Given the description of an element on the screen output the (x, y) to click on. 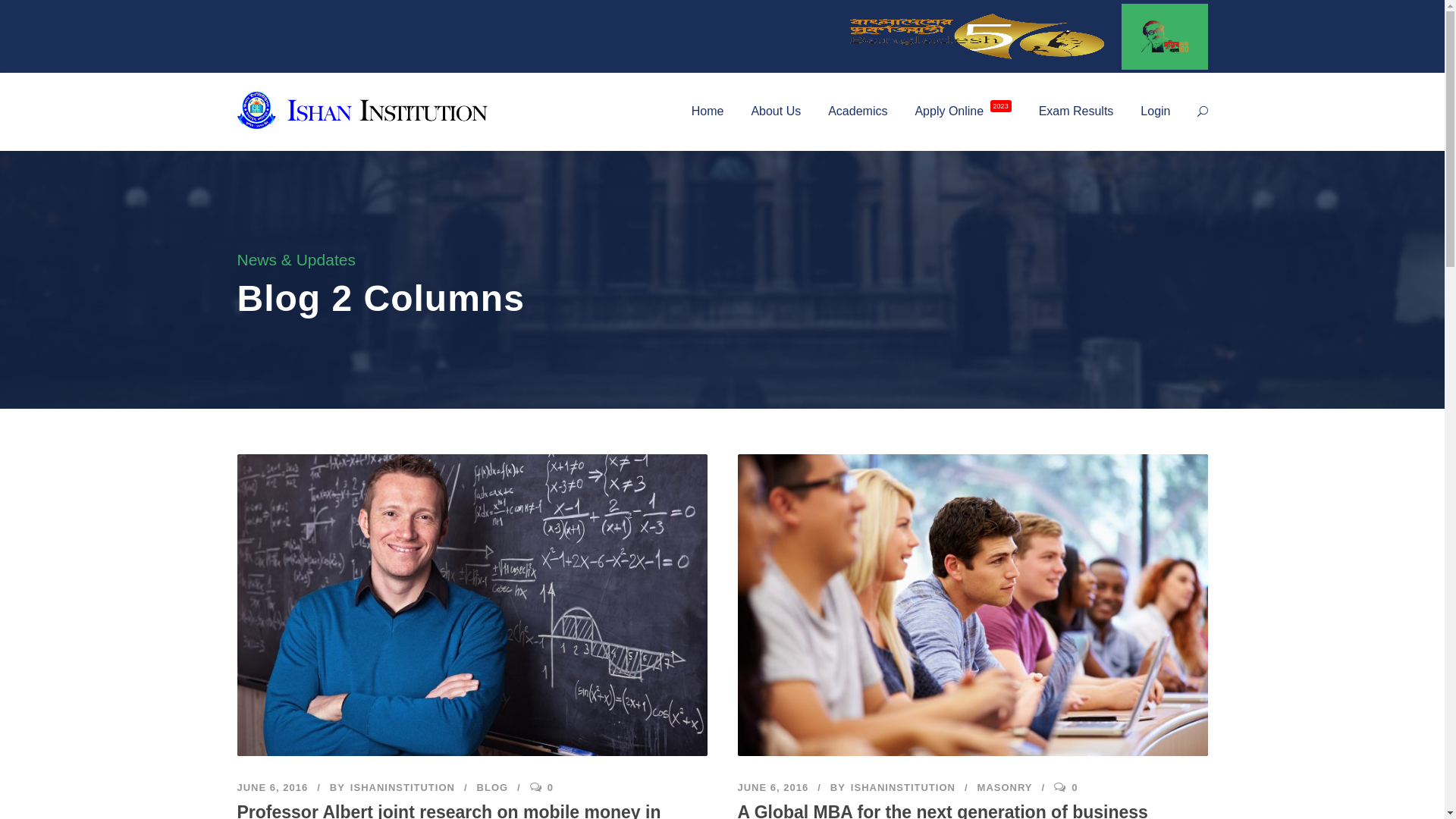
BLOG Element type: text (492, 787)
Login Element type: text (1155, 123)
Apply Online 2023 Element type: text (962, 123)
About Us Element type: text (775, 123)
MASONRY Element type: text (1004, 787)
ISHANINSTITUTION Element type: text (902, 787)
JUNE 6, 2016 Element type: text (772, 787)
Exam Results Element type: text (1075, 123)
ISHANINSTITUTION Element type: text (402, 787)
0 Element type: text (1074, 787)
Home Element type: text (707, 123)
Academics Element type: text (857, 123)
JUNE 6, 2016 Element type: text (271, 787)
0 Element type: text (550, 787)
